Given the description of an element on the screen output the (x, y) to click on. 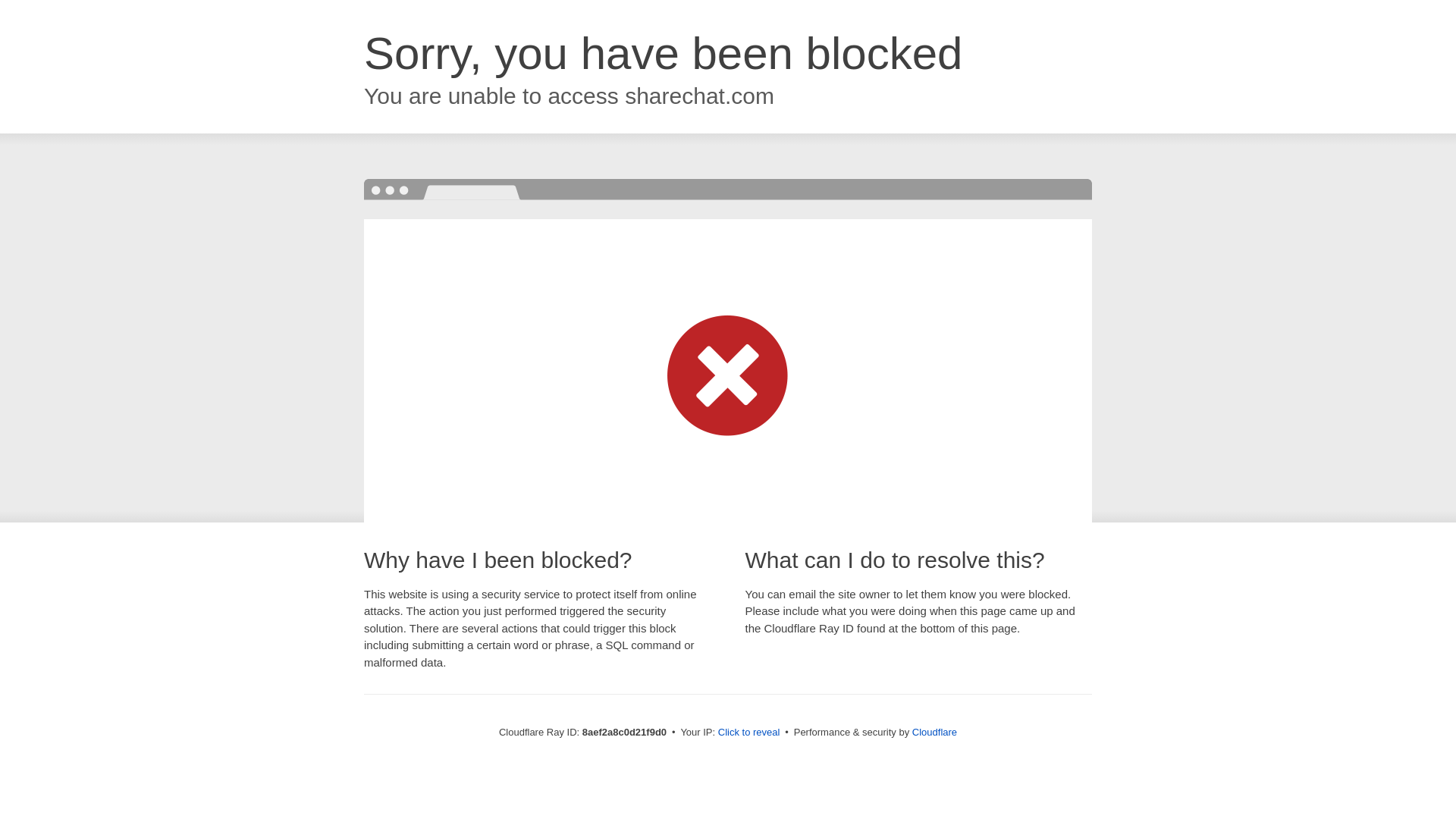
Cloudflare (934, 731)
Click to reveal (748, 732)
